Given the description of an element on the screen output the (x, y) to click on. 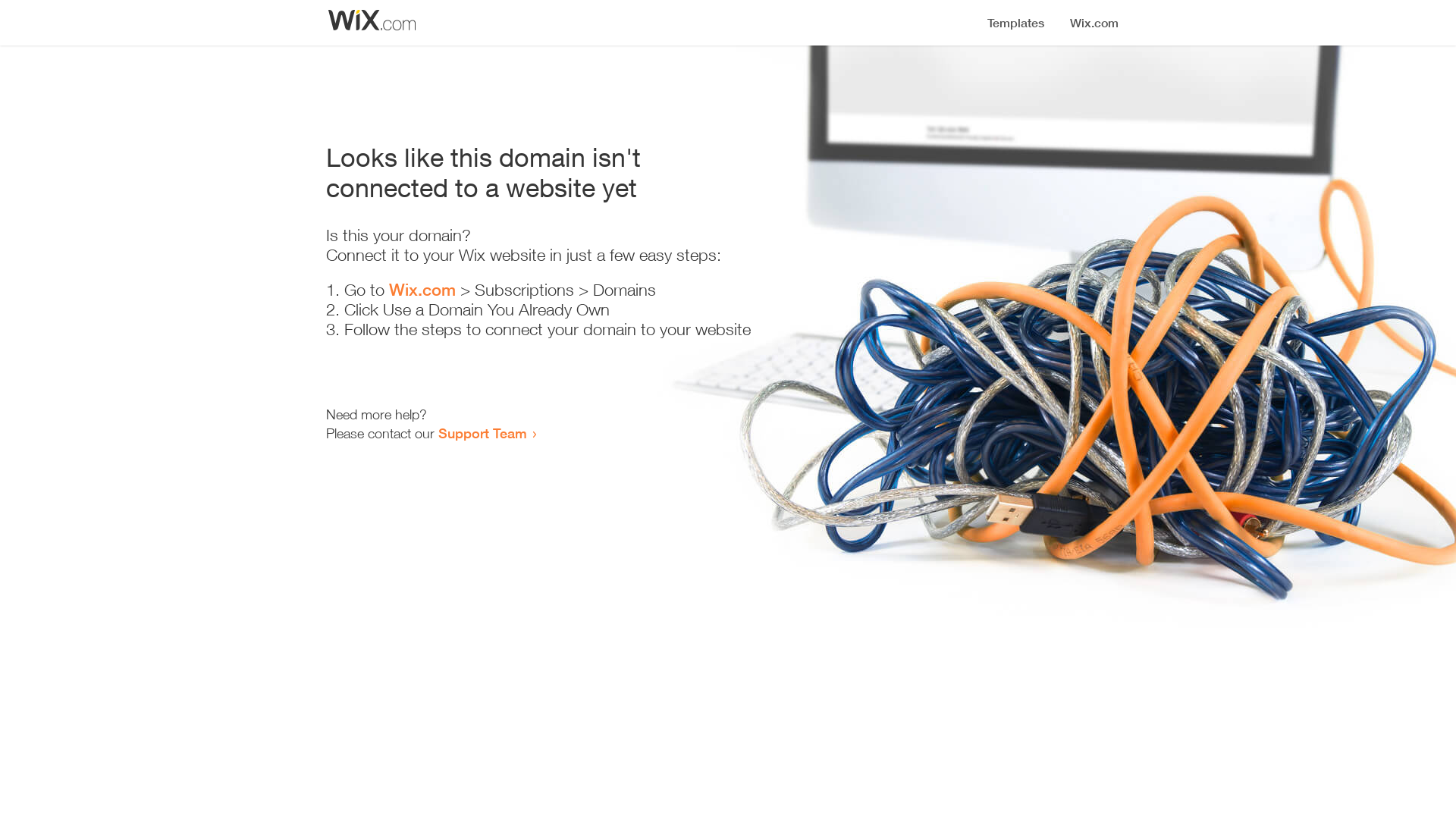
Support Team Element type: text (482, 432)
Wix.com Element type: text (422, 289)
